Given the description of an element on the screen output the (x, y) to click on. 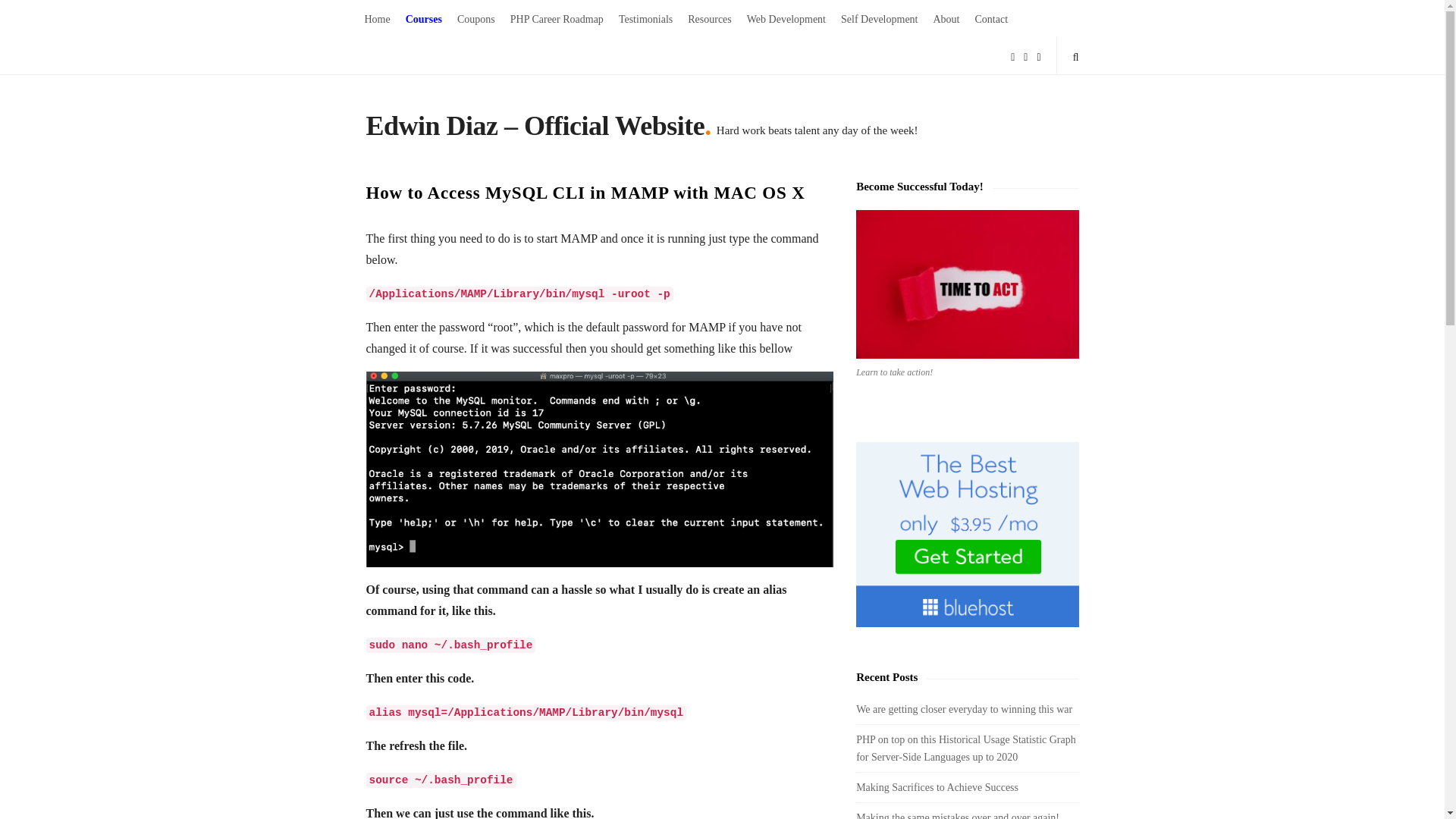
Self Development (878, 18)
Web Development (785, 18)
Resources (709, 18)
Home (376, 18)
Contact (992, 18)
Coupons (475, 18)
About (945, 18)
PHP Career Roadmap (556, 18)
Testimonials (645, 18)
Courses (423, 18)
